Given the description of an element on the screen output the (x, y) to click on. 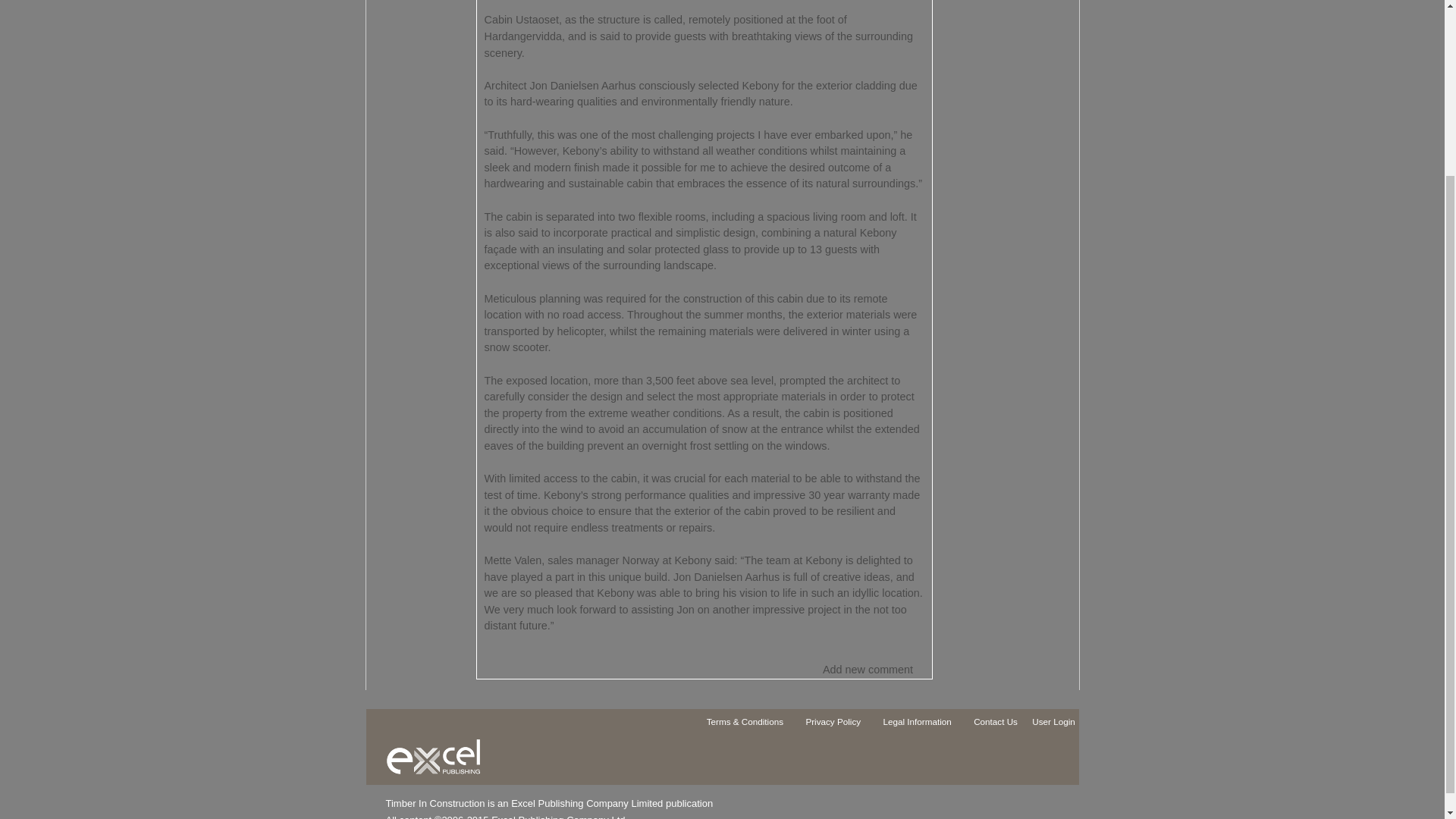
Privacy Policy (840, 724)
Contact Us (1003, 724)
Legal Information (924, 724)
